Given the description of an element on the screen output the (x, y) to click on. 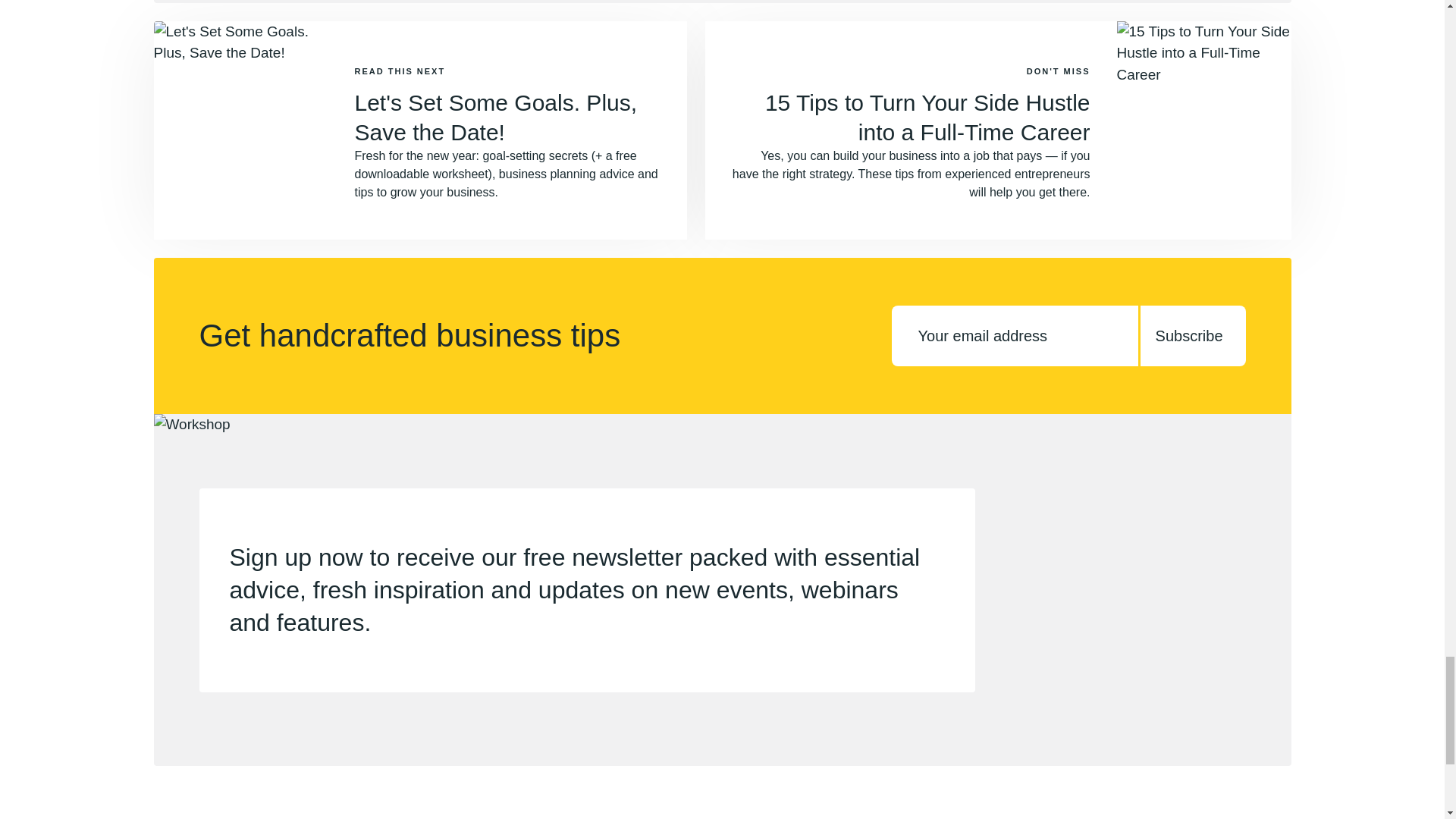
Subscribe (1193, 335)
Let's Set Some Goals. Plus, Save the Date! (496, 117)
15 Tips to Turn Your Side Hustle into a Full-Time Career (927, 117)
